Given the description of an element on the screen output the (x, y) to click on. 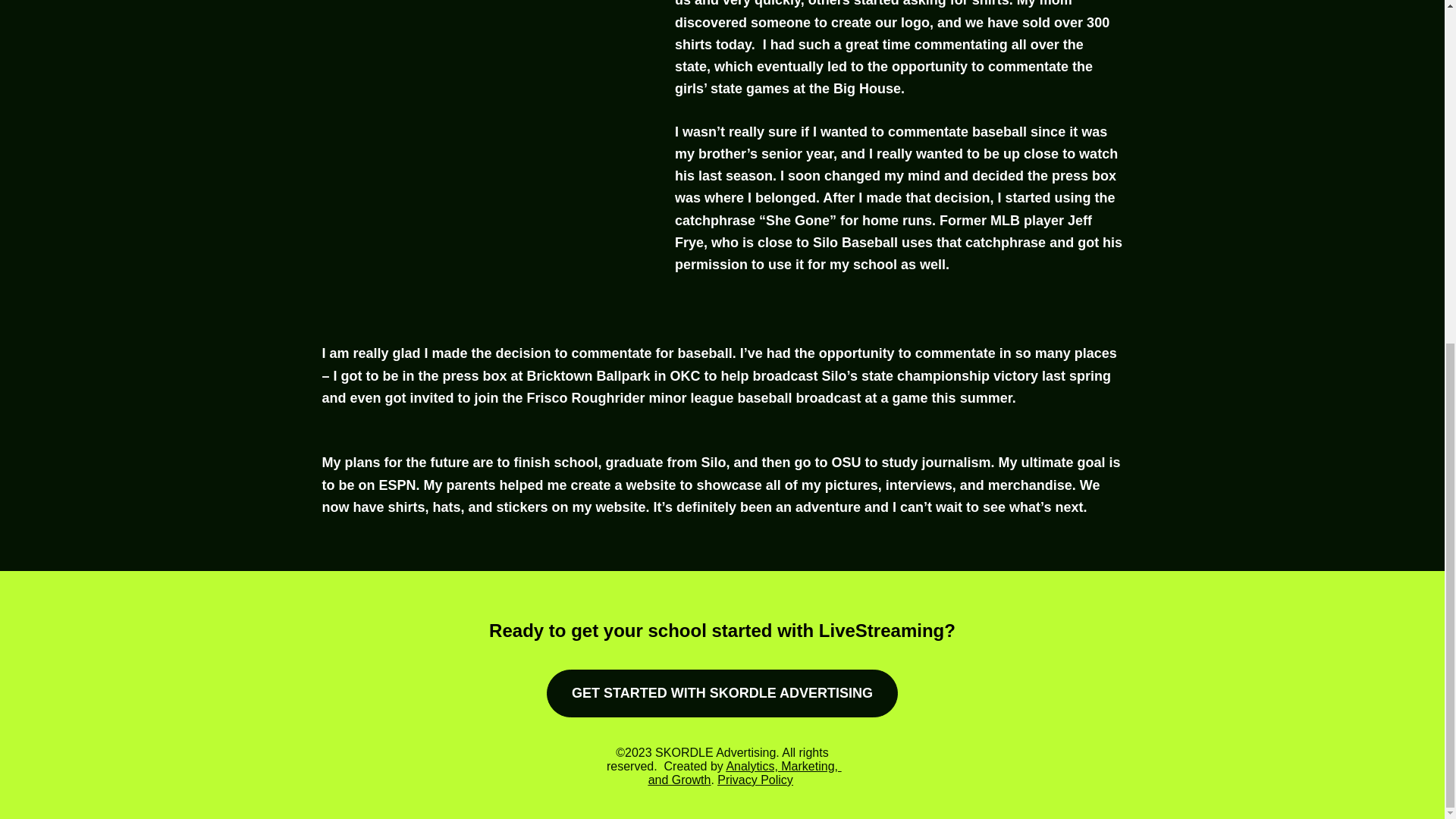
GET STARTED WITH SKORDLE ADVERTISING (722, 692)
Analytics, Marketing, and Growth (744, 773)
Privacy Policy (755, 779)
